Given the description of an element on the screen output the (x, y) to click on. 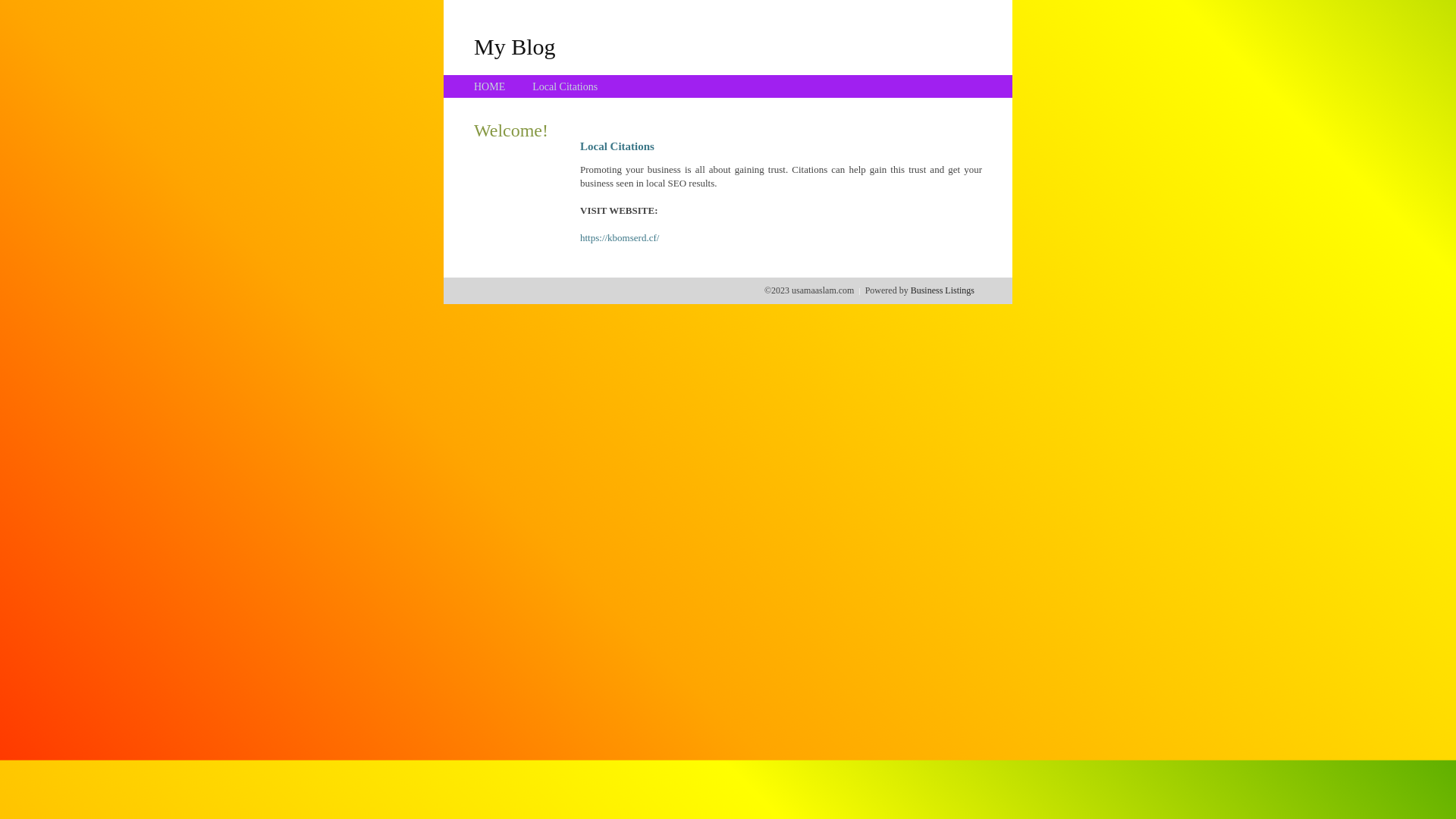
HOME Element type: text (489, 86)
Local Citations Element type: text (564, 86)
My Blog Element type: text (514, 46)
Business Listings Element type: text (942, 290)
https://kbomserd.cf/ Element type: text (619, 237)
